Given the description of an element on the screen output the (x, y) to click on. 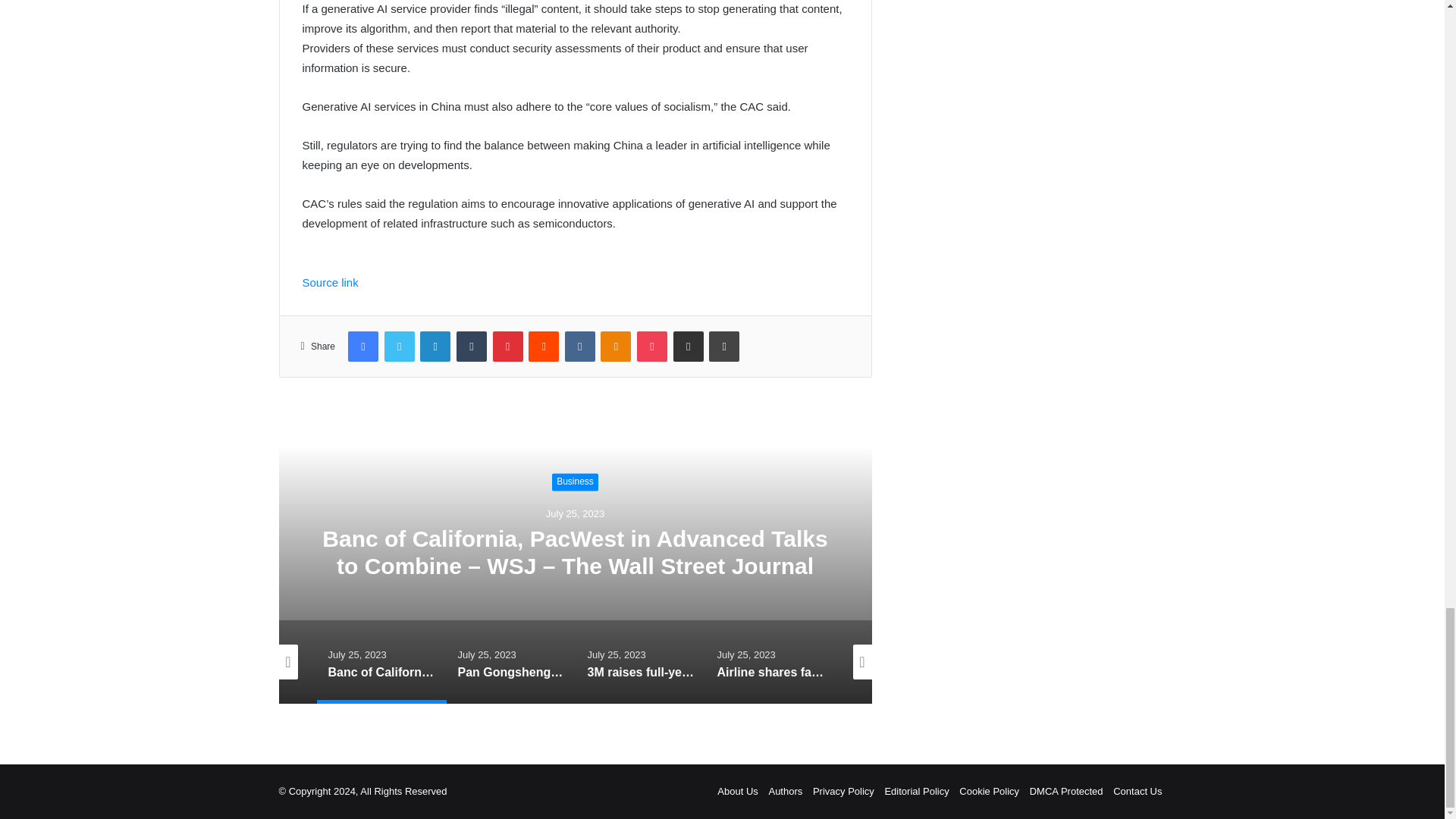
Facebook (362, 346)
Reddit (543, 346)
Twitter (399, 346)
Tumblr (471, 346)
Pinterest (507, 346)
Pinterest (507, 346)
Facebook (362, 346)
LinkedIn (434, 346)
Print (724, 346)
Pocket (651, 346)
Reddit (543, 346)
Odnoklassniki (614, 346)
Twitter (399, 346)
Source link (329, 282)
LinkedIn (434, 346)
